Given the description of an element on the screen output the (x, y) to click on. 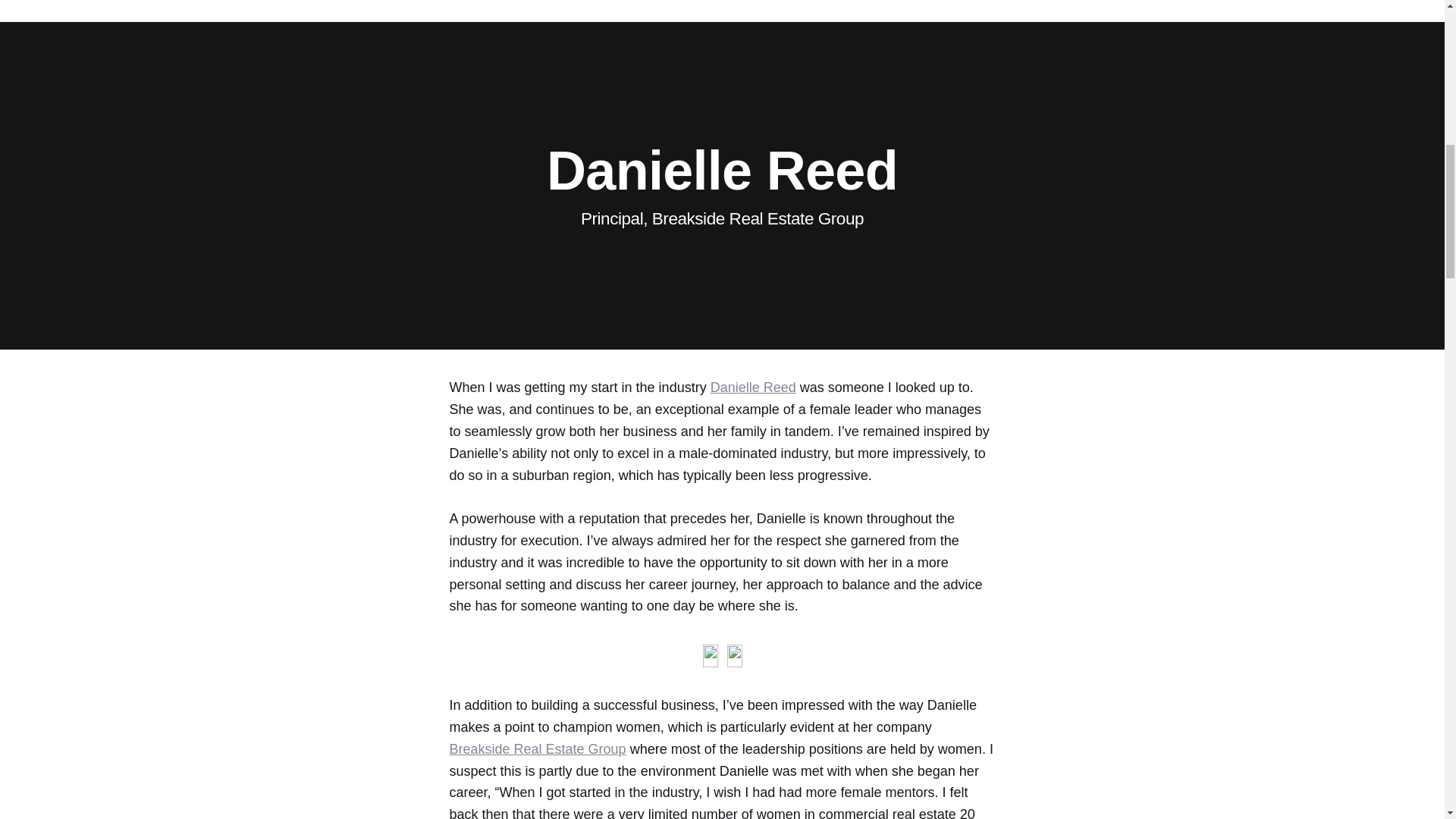
Danielle Reed (753, 387)
Breakside Real Estate Group (537, 749)
